Given the description of an element on the screen output the (x, y) to click on. 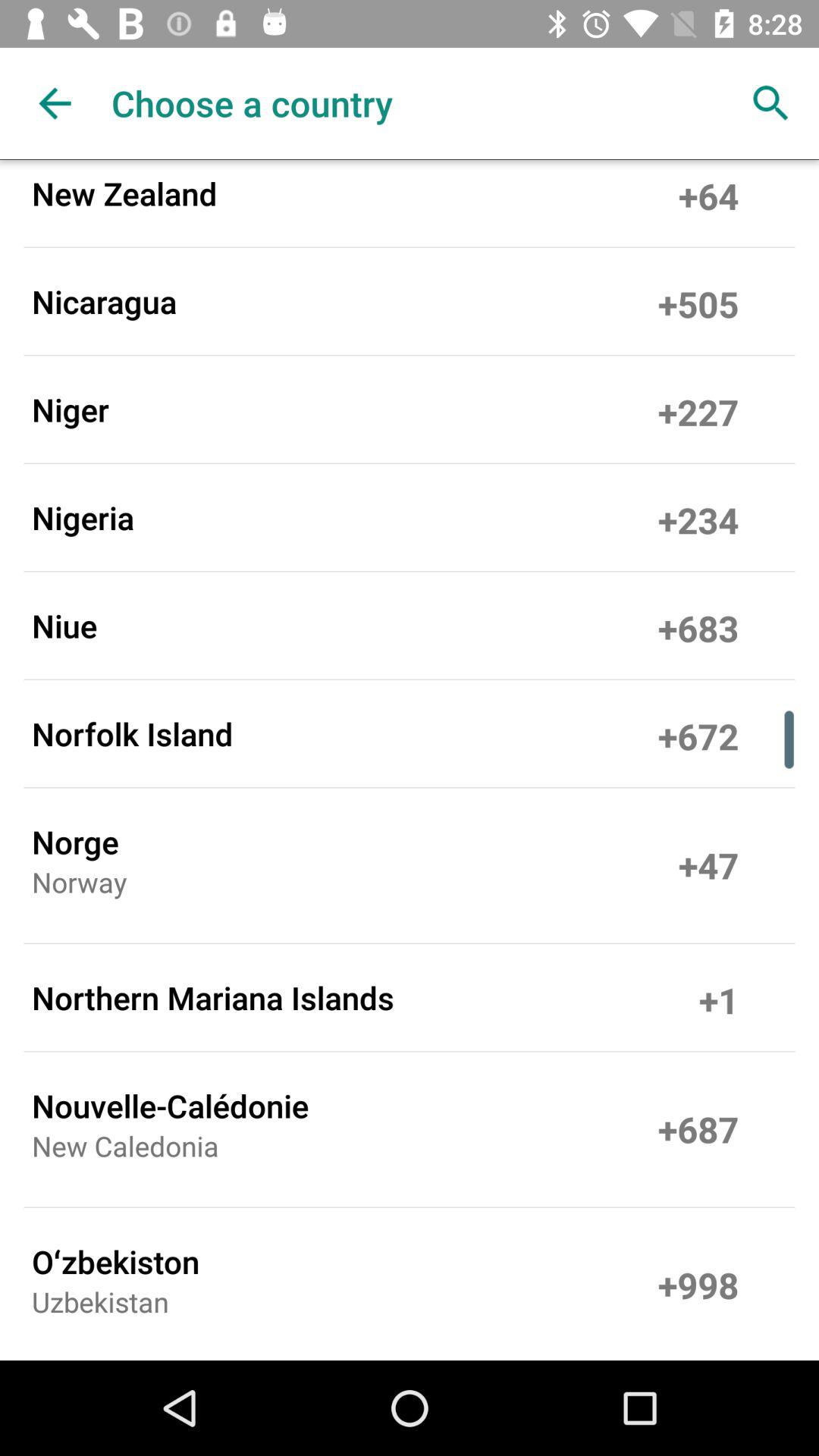
open the item above +1 item (708, 865)
